Given the description of an element on the screen output the (x, y) to click on. 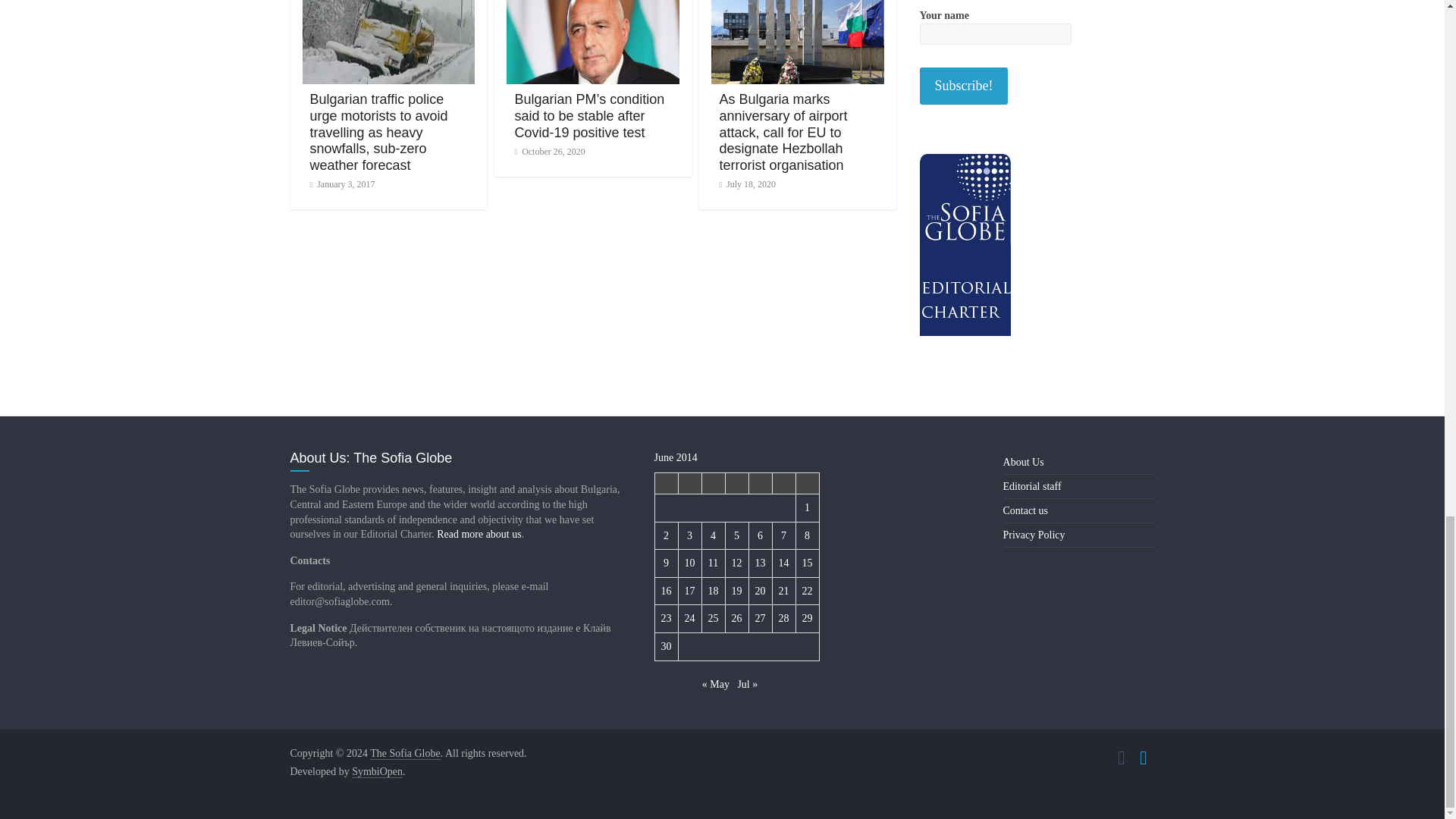
July 18, 2020 (747, 184)
Subscribe! (962, 85)
7:08 PM (341, 184)
January 3, 2017 (341, 184)
5:35 PM (549, 151)
October 26, 2020 (549, 151)
